Given the description of an element on the screen output the (x, y) to click on. 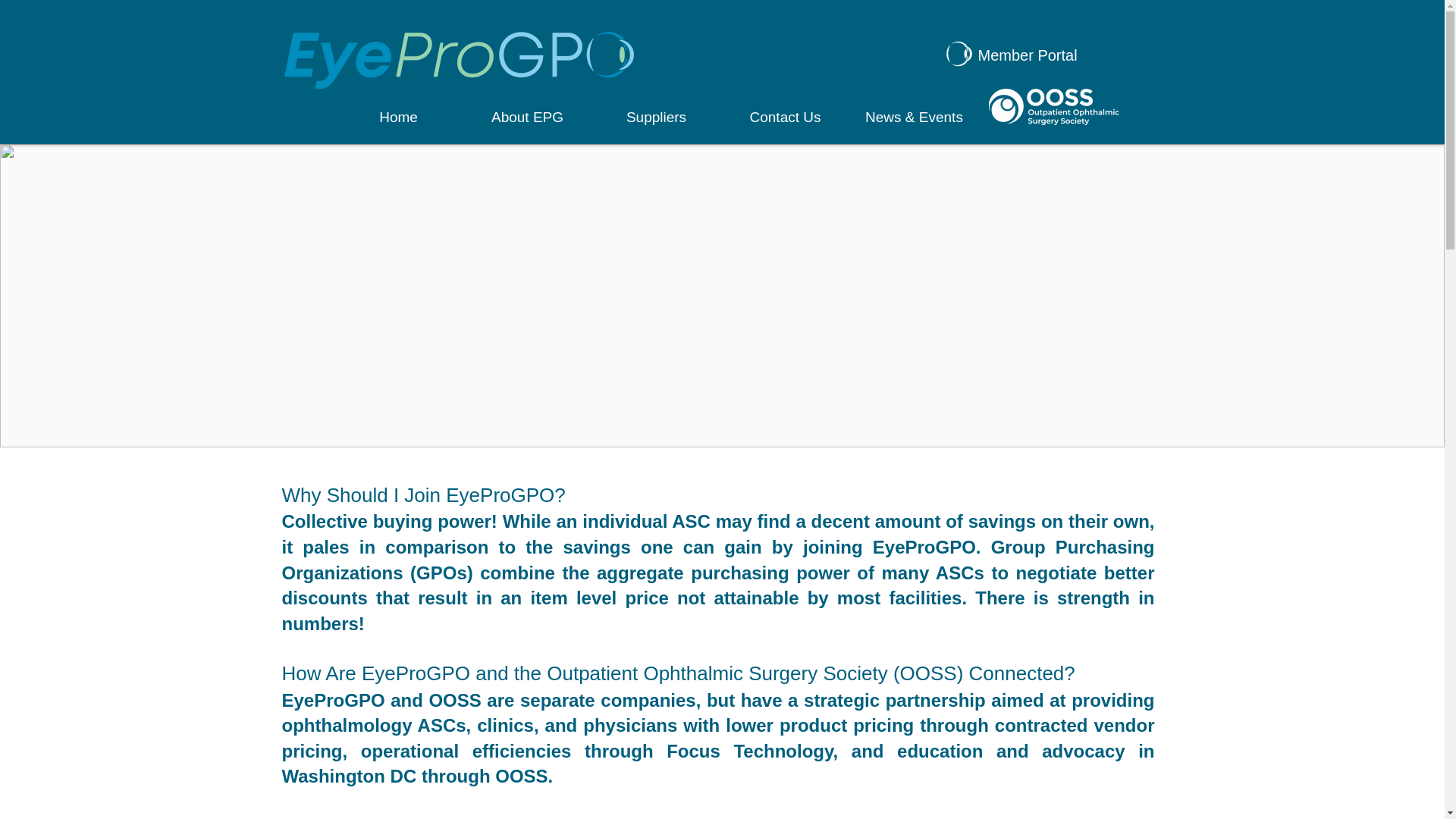
Contact Us (784, 116)
Member Portal (1031, 54)
About EPG (527, 116)
Home (398, 116)
Suppliers (655, 116)
